Given the description of an element on the screen output the (x, y) to click on. 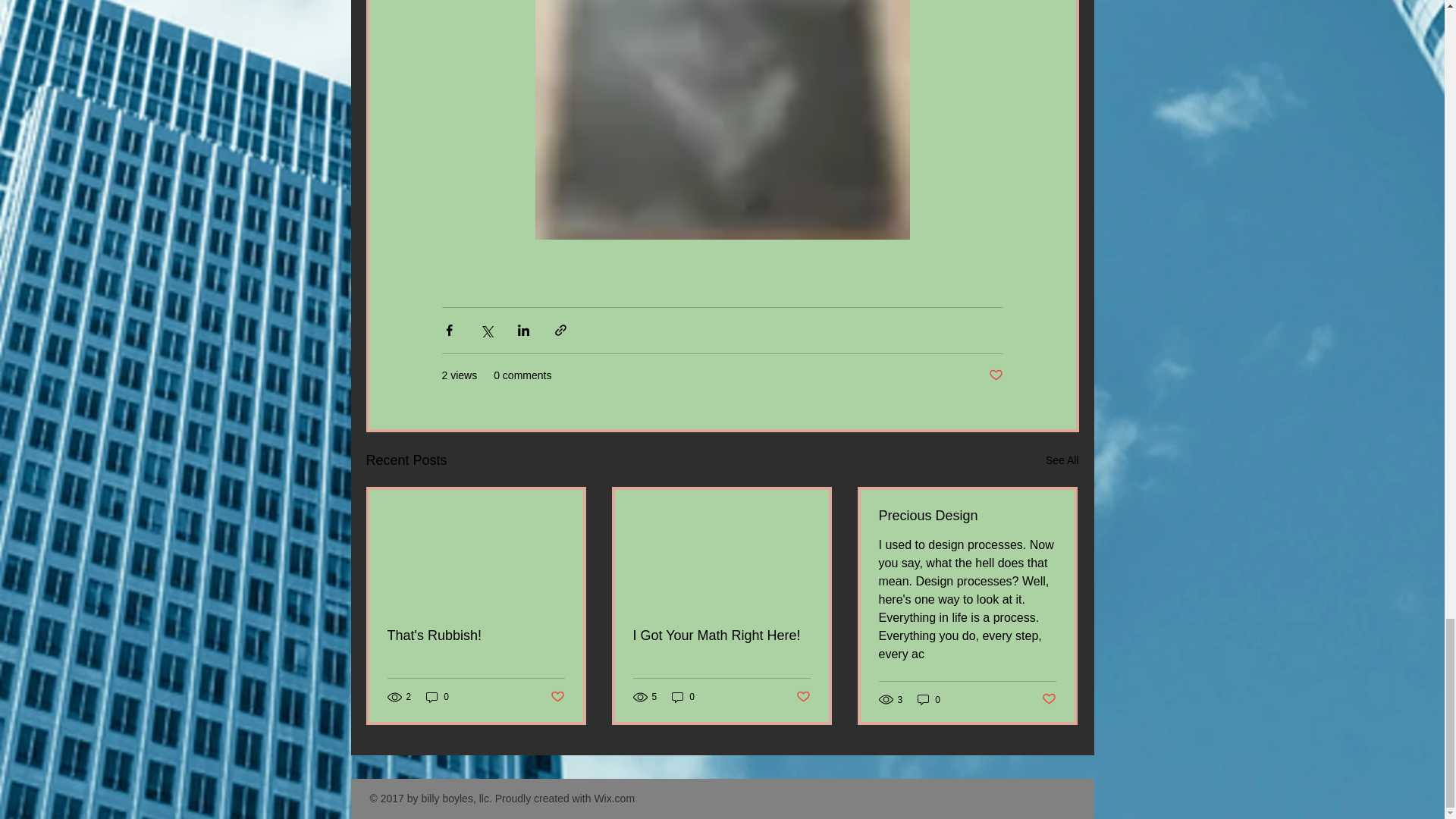
0 (437, 697)
Post not marked as liked (803, 697)
I Got Your Math Right Here! (720, 635)
See All (1061, 460)
0 (682, 697)
That's Rubbish! (475, 635)
Post not marked as liked (557, 697)
Post not marked as liked (995, 375)
